Given the description of an element on the screen output the (x, y) to click on. 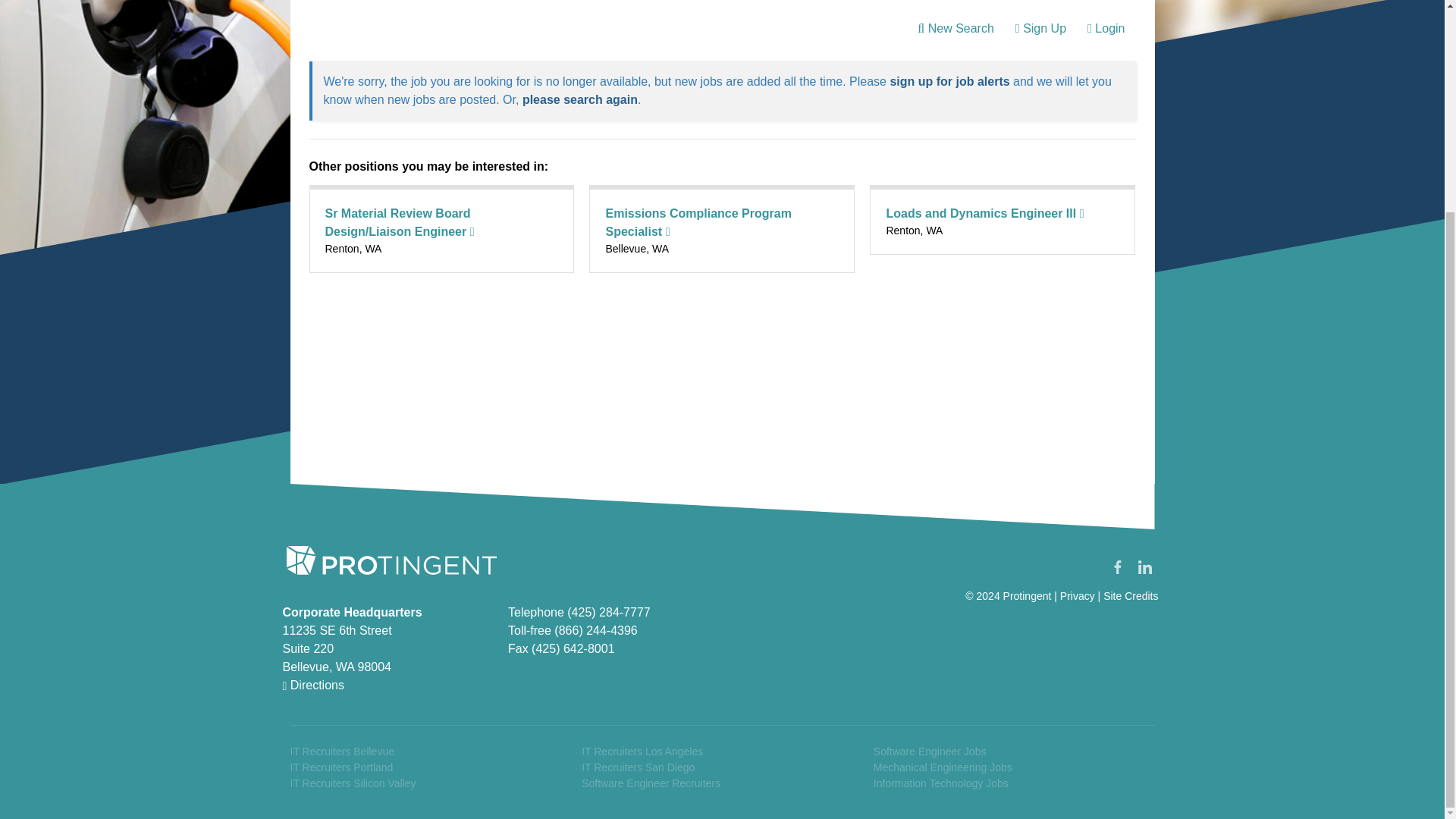
sign up for job alerts (949, 81)
Loads and Dynamics Engineer III (984, 213)
Sign Up (1040, 28)
Login (1106, 28)
New Search (955, 28)
please search again (579, 99)
Emissions Compliance Program Specialist (697, 222)
